Given the description of an element on the screen output the (x, y) to click on. 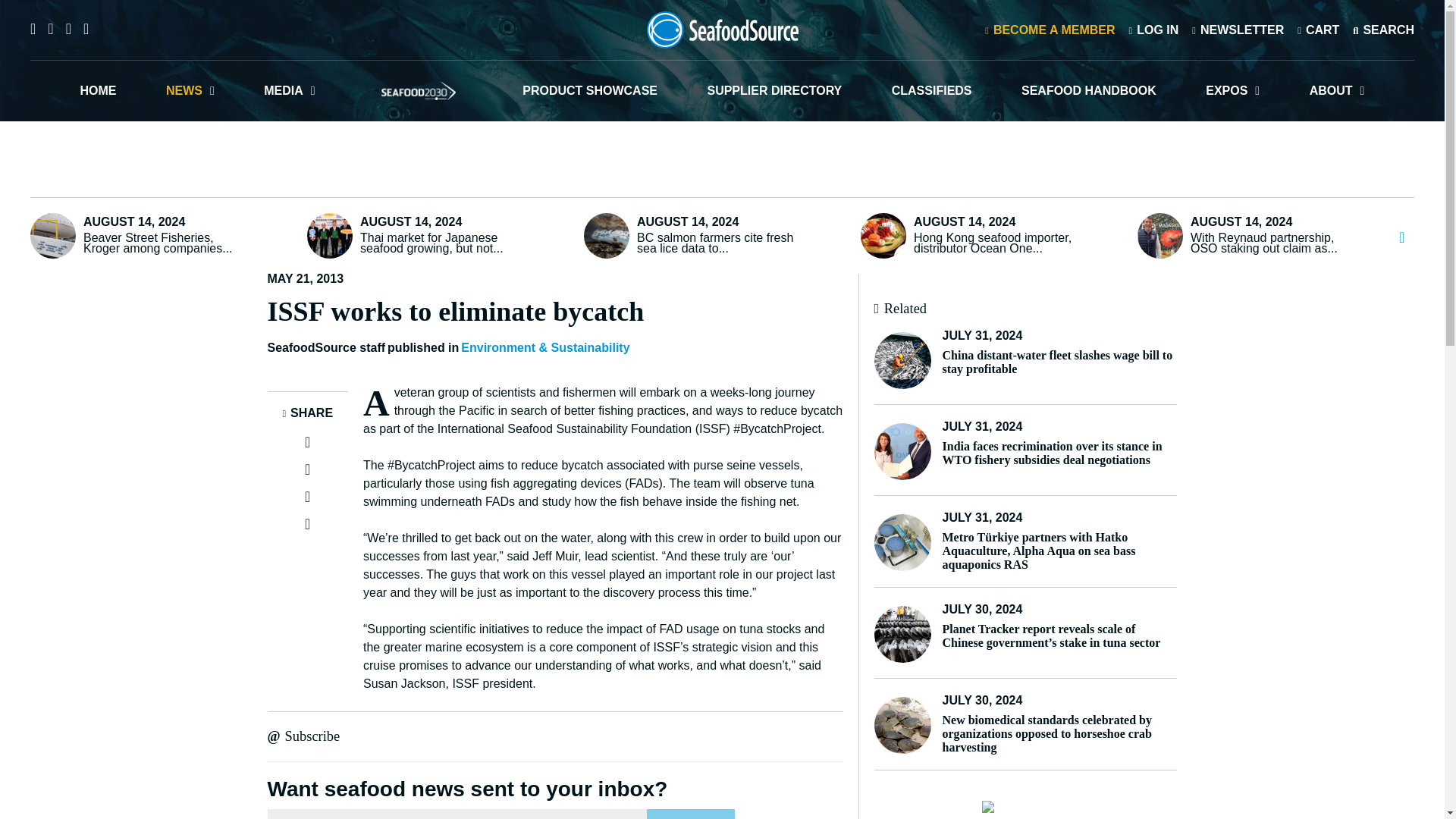
PRODUCT SHOWCASE (590, 90)
SEARCH (1382, 29)
SEAFOOD2030 (419, 90)
Become a member (1050, 29)
Subscribe to our newsletter (1238, 29)
NEWSLETTER (1238, 29)
Log in (1152, 29)
CART (1318, 29)
